Given the description of an element on the screen output the (x, y) to click on. 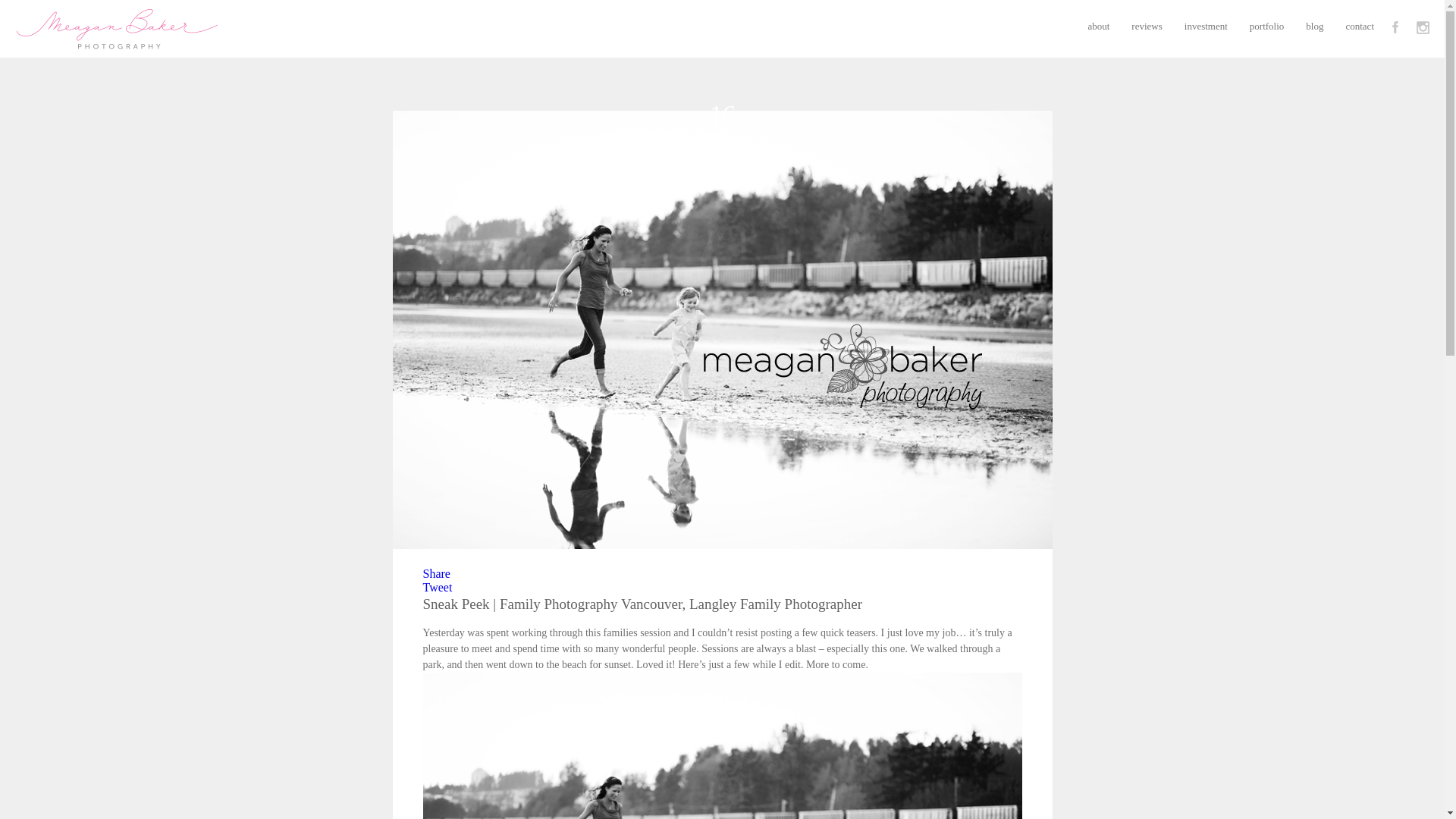
portfolio (1266, 25)
Tweet (437, 586)
contact (1359, 25)
about (1098, 25)
Share (436, 573)
investment (1206, 25)
blog (1314, 25)
reviews (1146, 25)
